Given the description of an element on the screen output the (x, y) to click on. 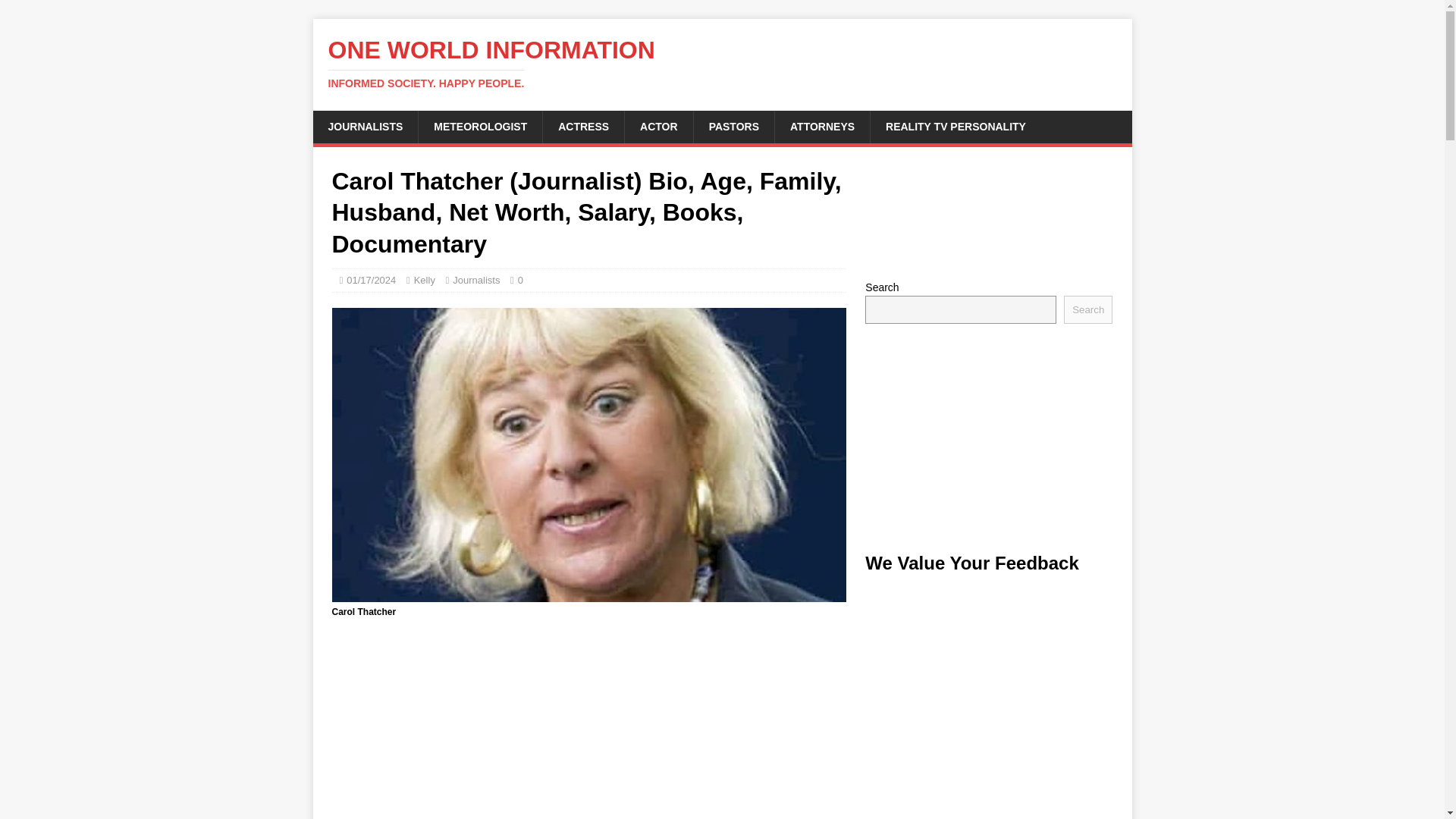
REALITY TV PERSONALITY (955, 126)
Journalists (475, 279)
One World Information (721, 63)
METEOROLOGIST (479, 126)
ACTOR (658, 126)
PASTORS (733, 126)
JOURNALISTS (365, 126)
ATTORNEYS (821, 126)
Search (1088, 309)
ACTRESS (582, 126)
